Given the description of an element on the screen output the (x, y) to click on. 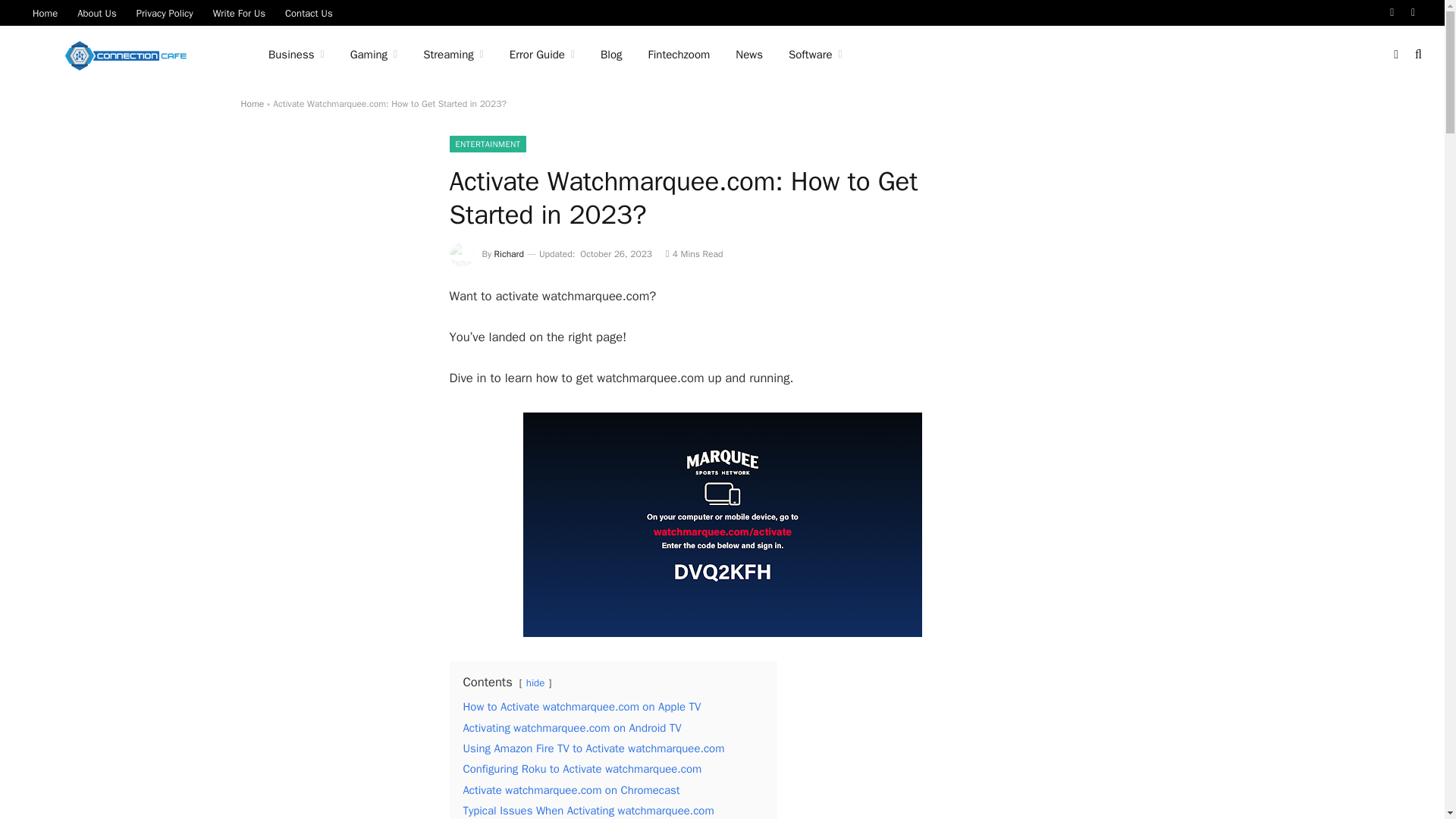
Write For Us (239, 12)
Switch to Dark Design - easier on eyes. (1396, 54)
Streaming (453, 54)
Business (296, 54)
ENTERTAINMENT (486, 143)
Contact Us (308, 12)
Privacy Policy (164, 12)
Posts by Richard (509, 254)
Connection Cafe (125, 54)
Software (816, 54)
